Given the description of an element on the screen output the (x, y) to click on. 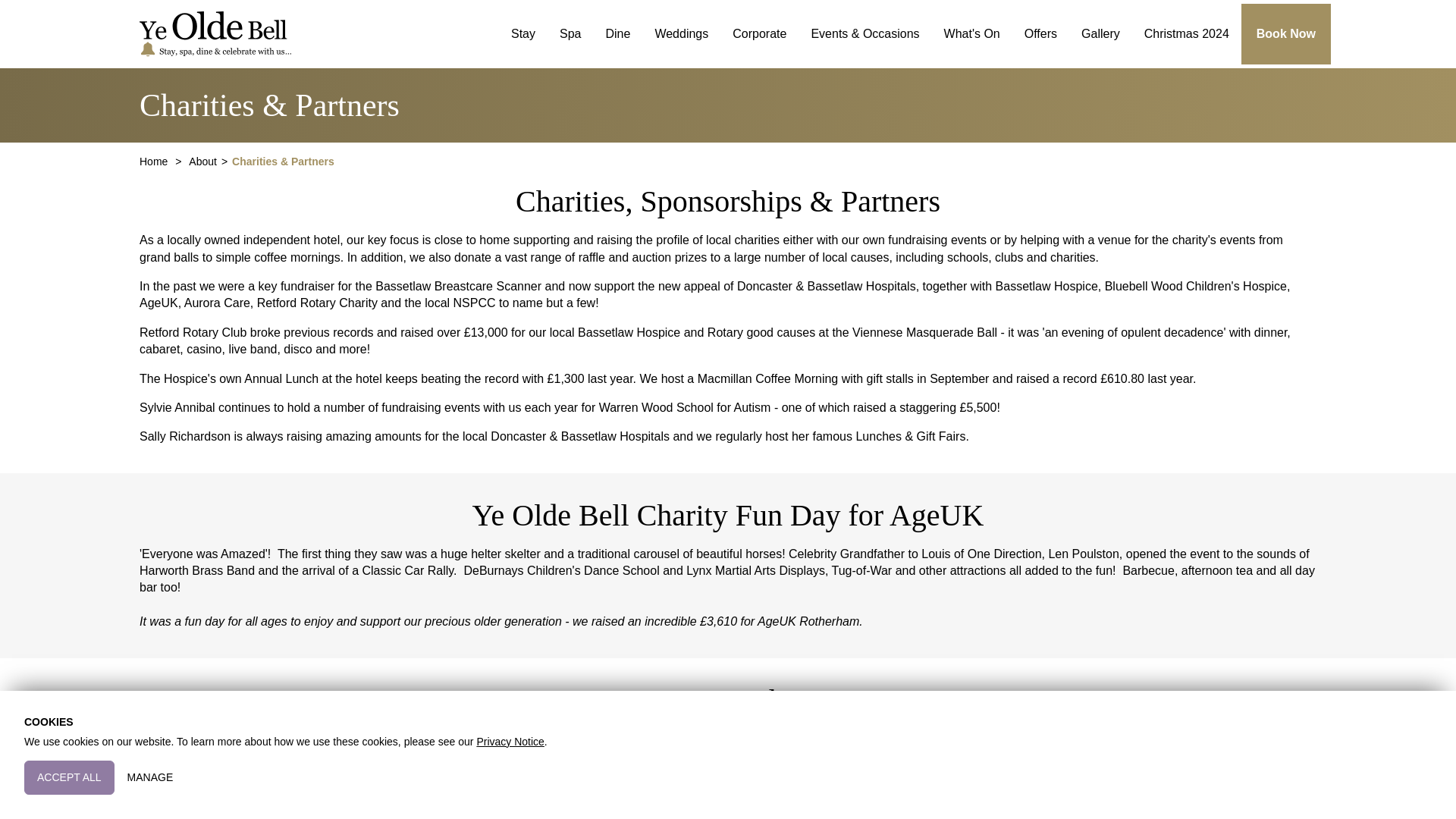
Book Now (1285, 33)
What's On (971, 33)
Christmas 2024 (1186, 33)
Home (154, 161)
Weddings (681, 33)
Corporate (758, 33)
Weddings (681, 33)
Gallery (1100, 33)
